Given the description of an element on the screen output the (x, y) to click on. 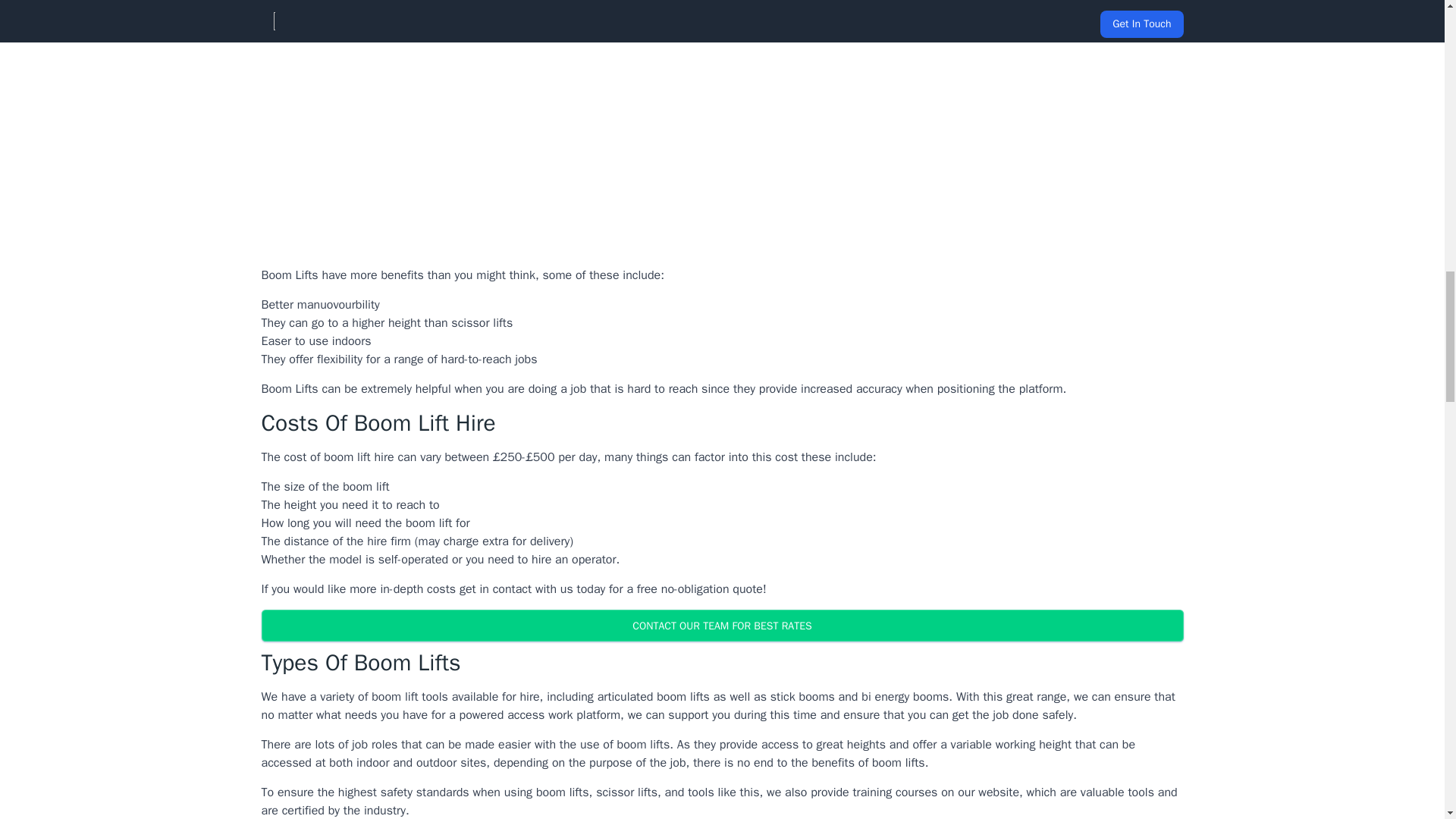
CONTACT OUR TEAM FOR BEST RATES (721, 625)
